Given the description of an element on the screen output the (x, y) to click on. 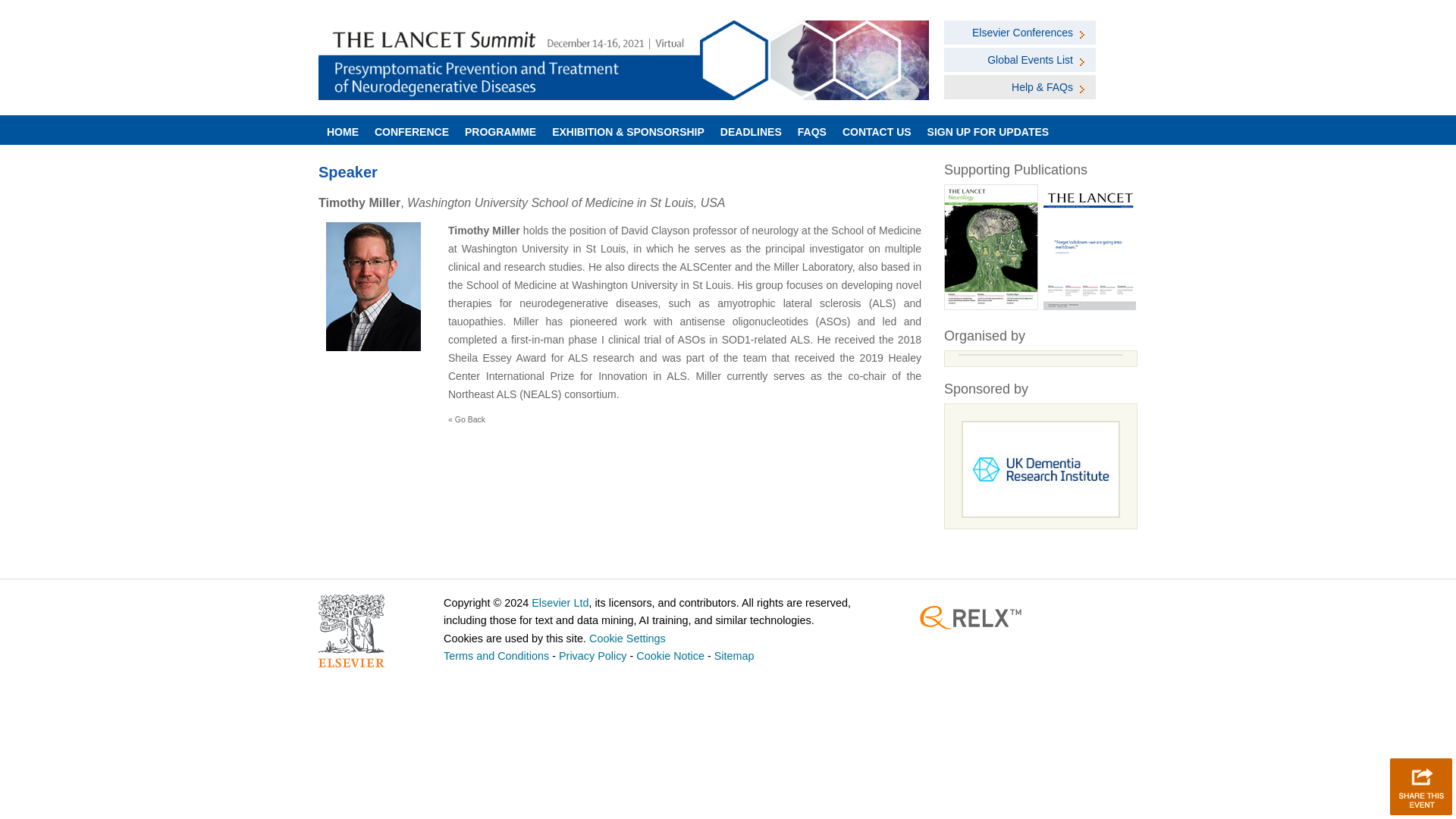
Go Back (469, 419)
Privacy Policy (593, 655)
SIGN UP FOR UPDATES (987, 129)
CONFERENCE (411, 129)
HOME (342, 129)
Sitemap (734, 655)
Elsevier Ltd (559, 603)
DEADLINES (750, 129)
Cookie Notice (670, 655)
Privacy Policy (593, 655)
Terms and Conditions (496, 655)
Go to RELX Group Homepage (970, 617)
CONTACT US (876, 129)
Terms and Conditions (496, 655)
Cookie notice (670, 655)
